Given the description of an element on the screen output the (x, y) to click on. 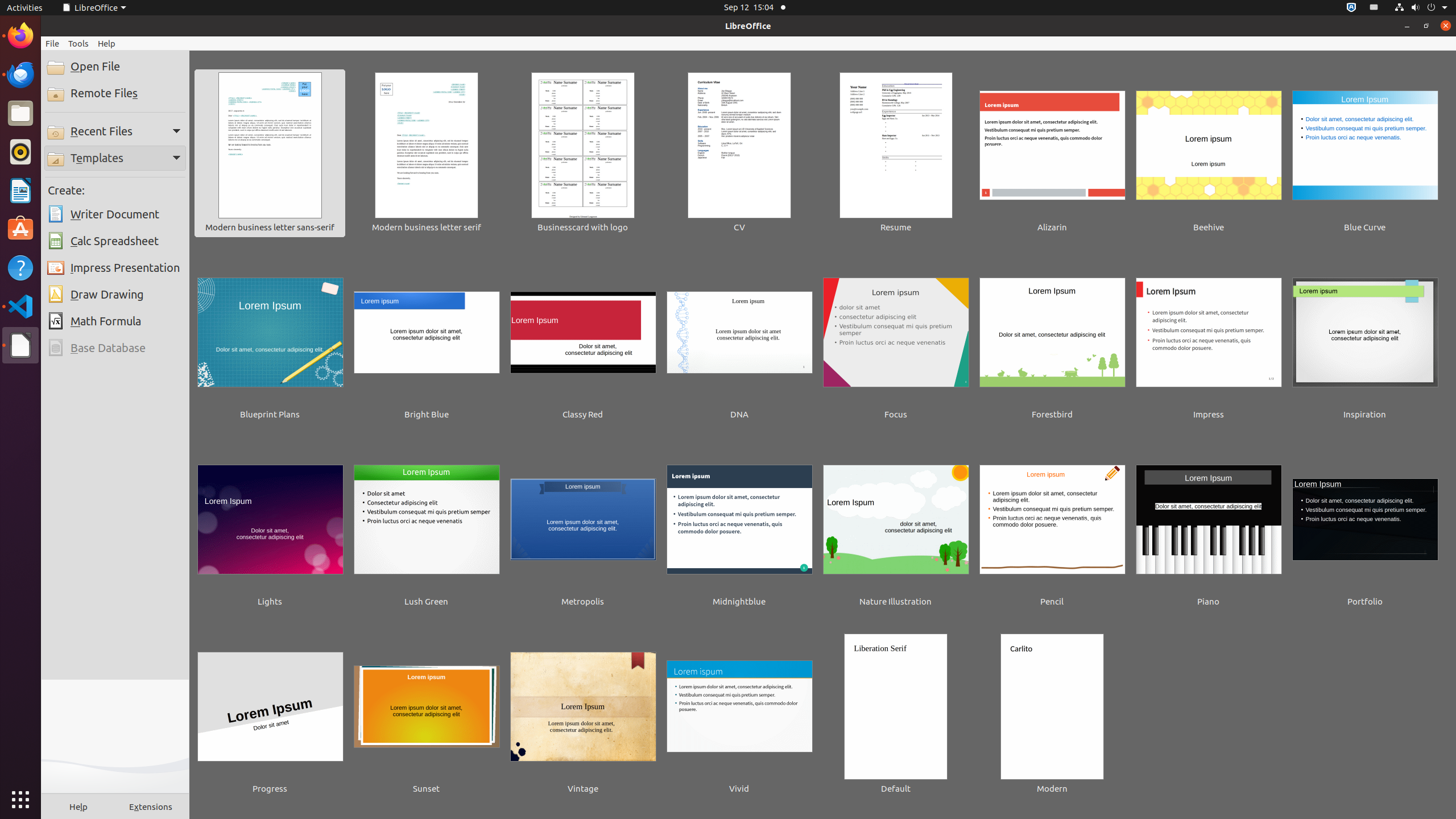
Writer Document Element type: push-button (114, 213)
Vintage Element type: list-item (582, 714)
Modern Element type: list-item (1051, 714)
